Given the description of an element on the screen output the (x, y) to click on. 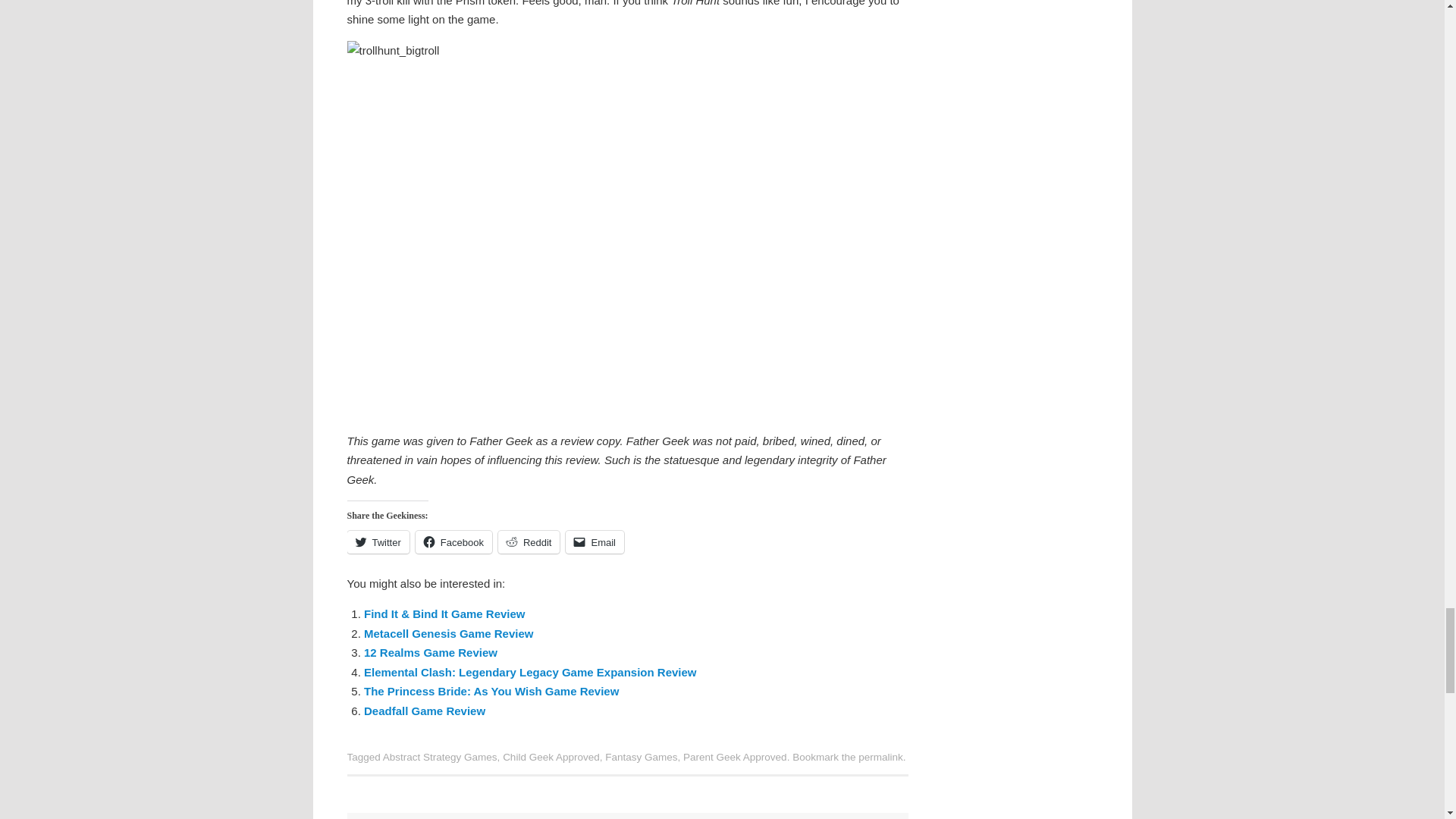
Click to email a link to a friend (595, 541)
Twitter (378, 541)
Reddit (528, 541)
The Princess Bride: As You Wish Game Review (491, 690)
Permalink to Troll Hunt Game Review (880, 756)
Elemental Clash: Legendary Legacy Game Expansion Review (530, 671)
Email (595, 541)
12 Realms Game Review (430, 652)
Facebook (453, 541)
Click to share on Reddit (528, 541)
Metacell Genesis Game Review (448, 633)
Click to share on Facebook (453, 541)
Deadfall Game Review (424, 710)
Click to share on Twitter (378, 541)
